Given the description of an element on the screen output the (x, y) to click on. 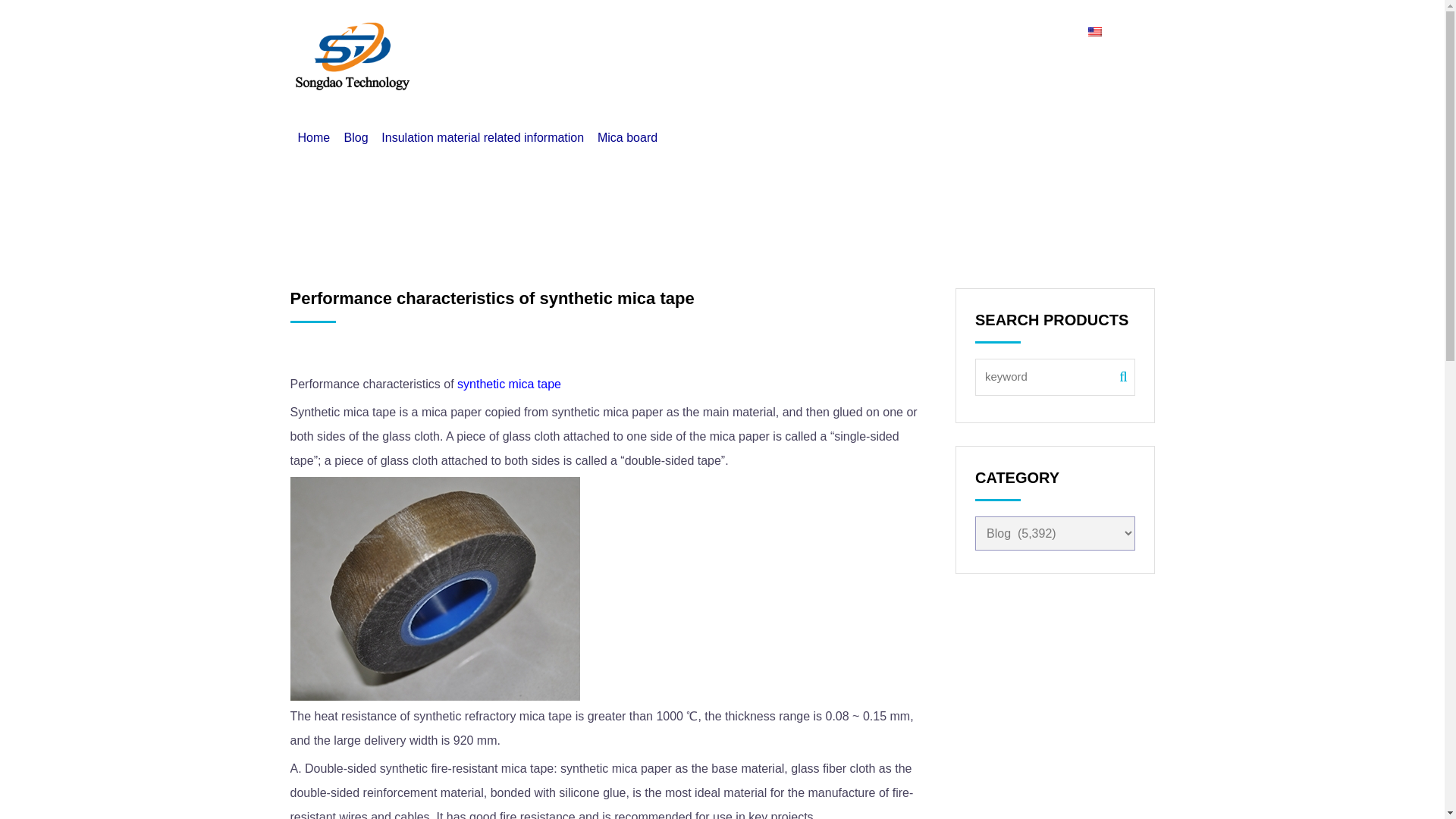
Products (719, 31)
English (1109, 31)
Blog (975, 31)
synthetic mica tape (434, 588)
Contact Us (897, 31)
About Us (805, 31)
